Given the description of an element on the screen output the (x, y) to click on. 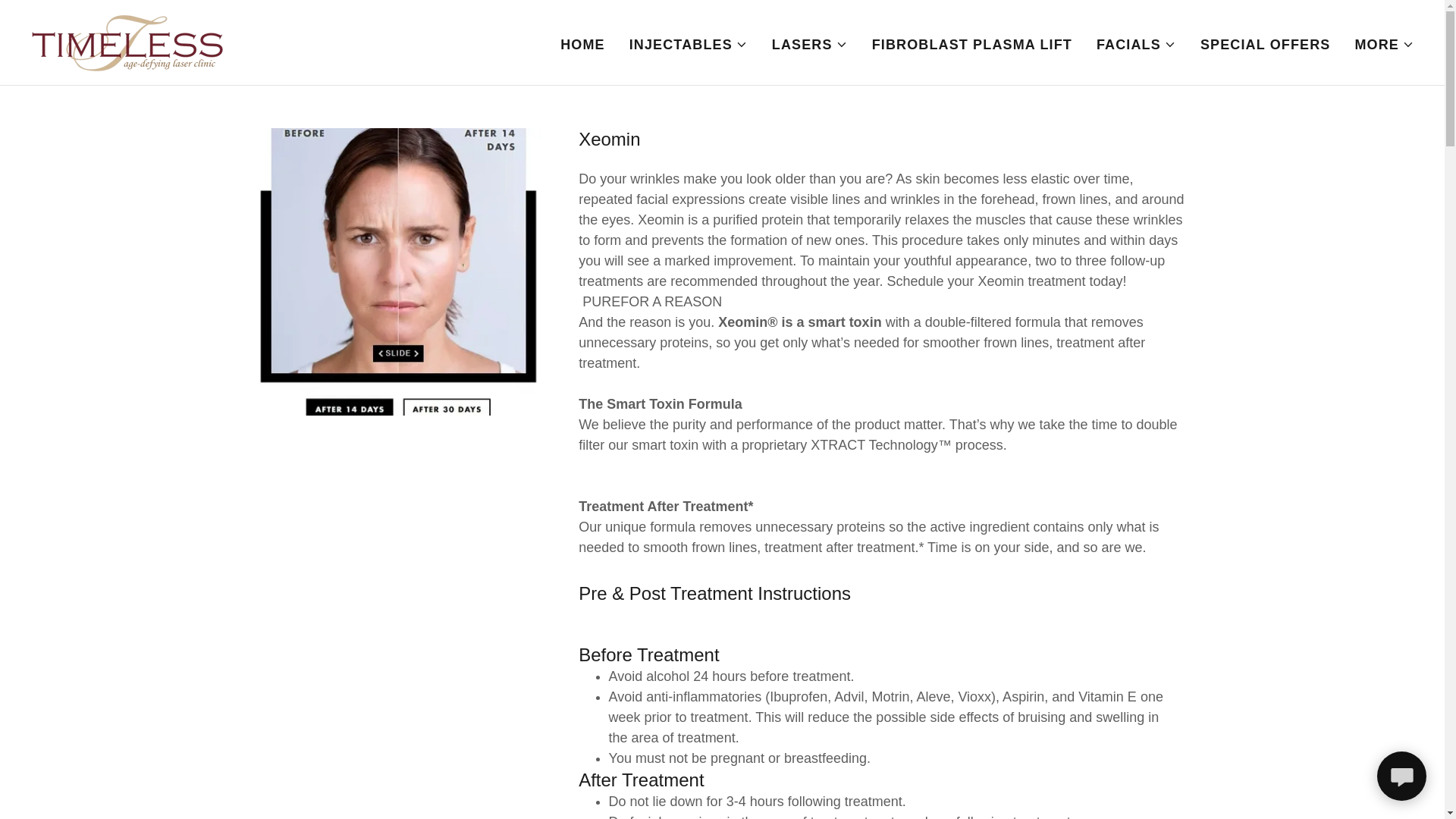
FACIALS (1136, 44)
LASERS (809, 44)
SPECIAL OFFERS (1265, 43)
Timeless Age Defying Laser Clinic (128, 41)
FIBROBLAST PLASMA LIFT (972, 43)
INJECTABLES (688, 44)
HOME (583, 43)
